Given the description of an element on the screen output the (x, y) to click on. 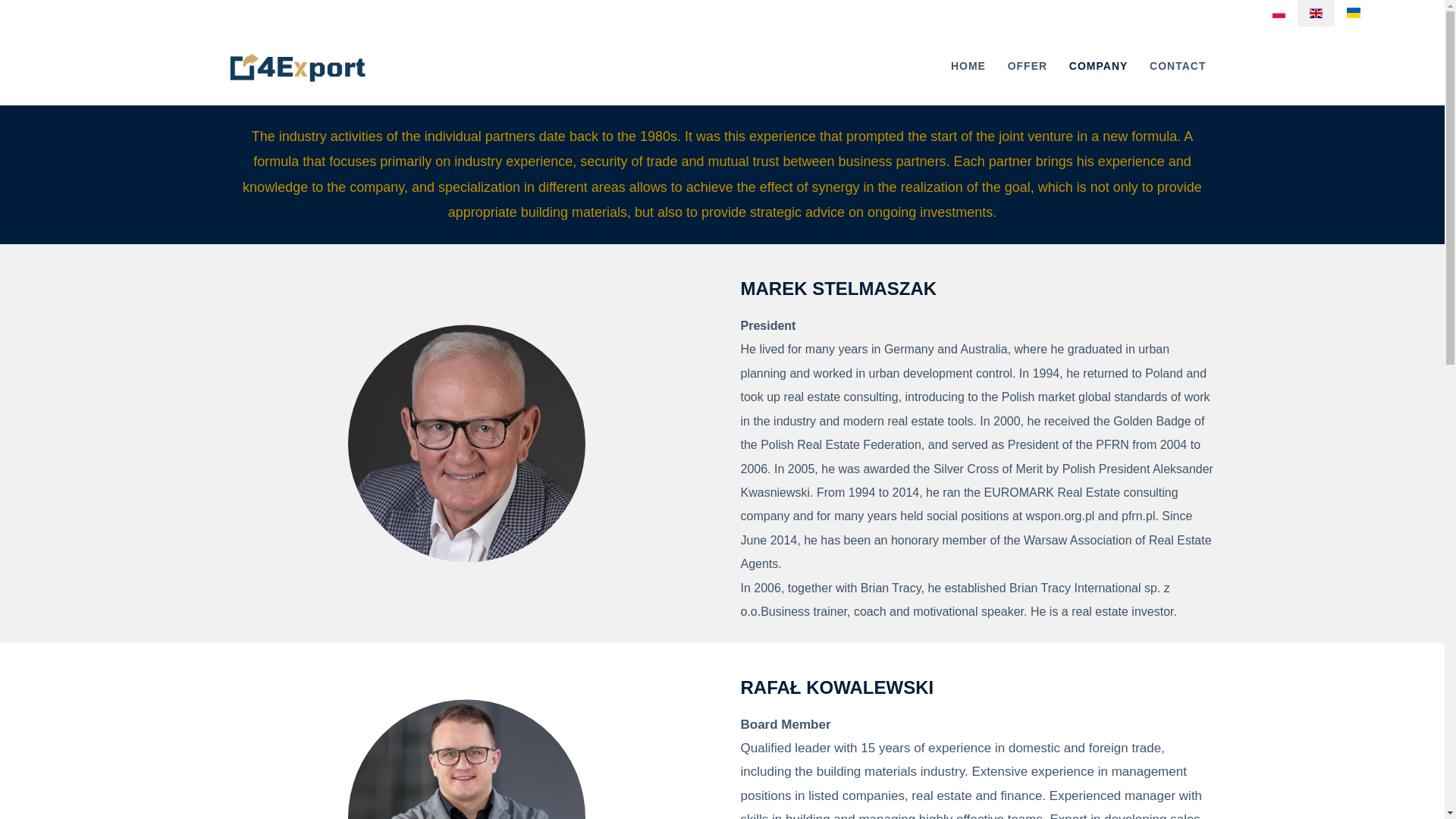
polski (1278, 13)
OFFER (1027, 65)
CONTACT (1177, 65)
English (1316, 13)
COMPANY (1098, 65)
HOME (968, 65)
